Given the description of an element on the screen output the (x, y) to click on. 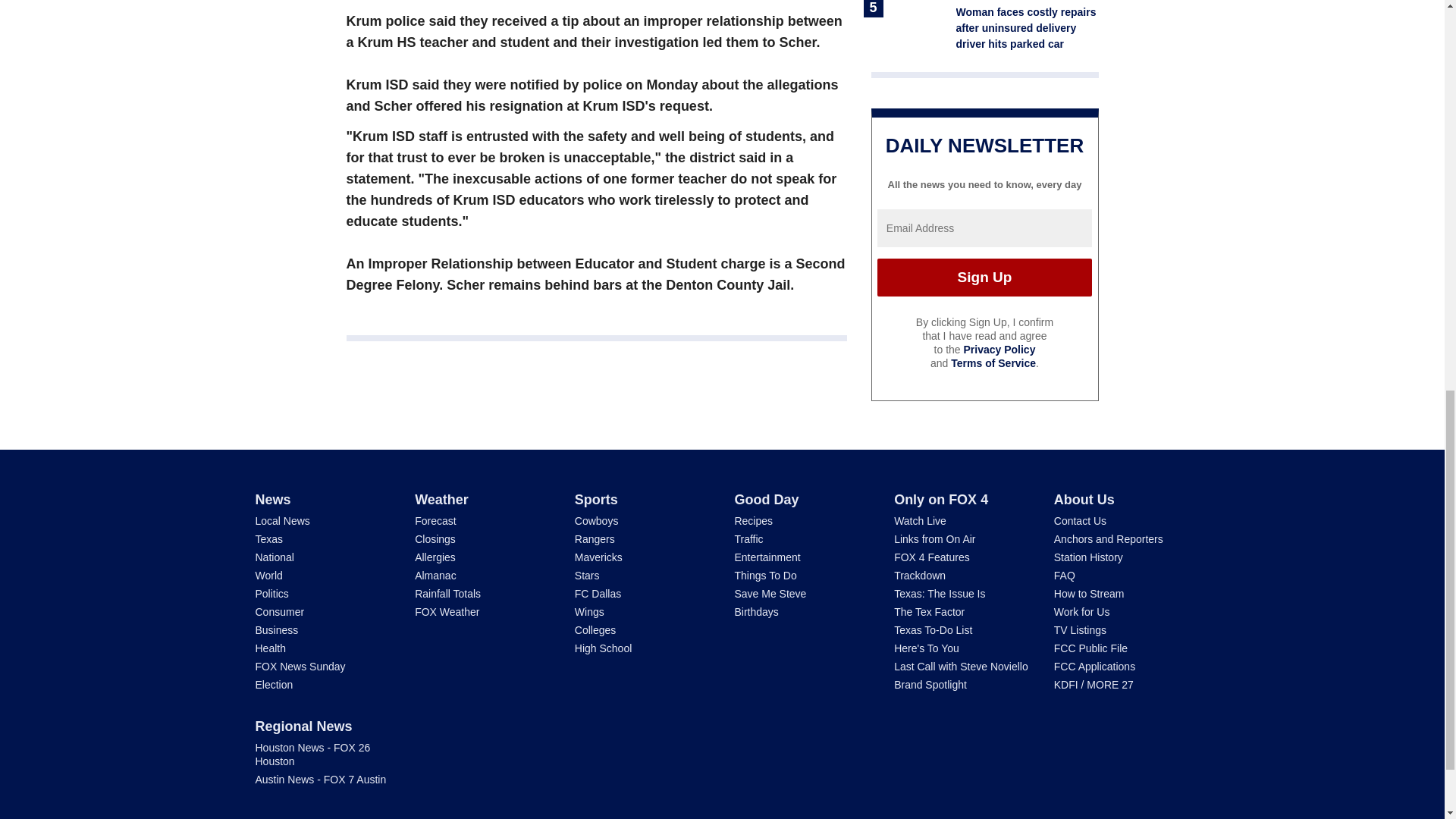
Sign Up (984, 277)
